Given the description of an element on the screen output the (x, y) to click on. 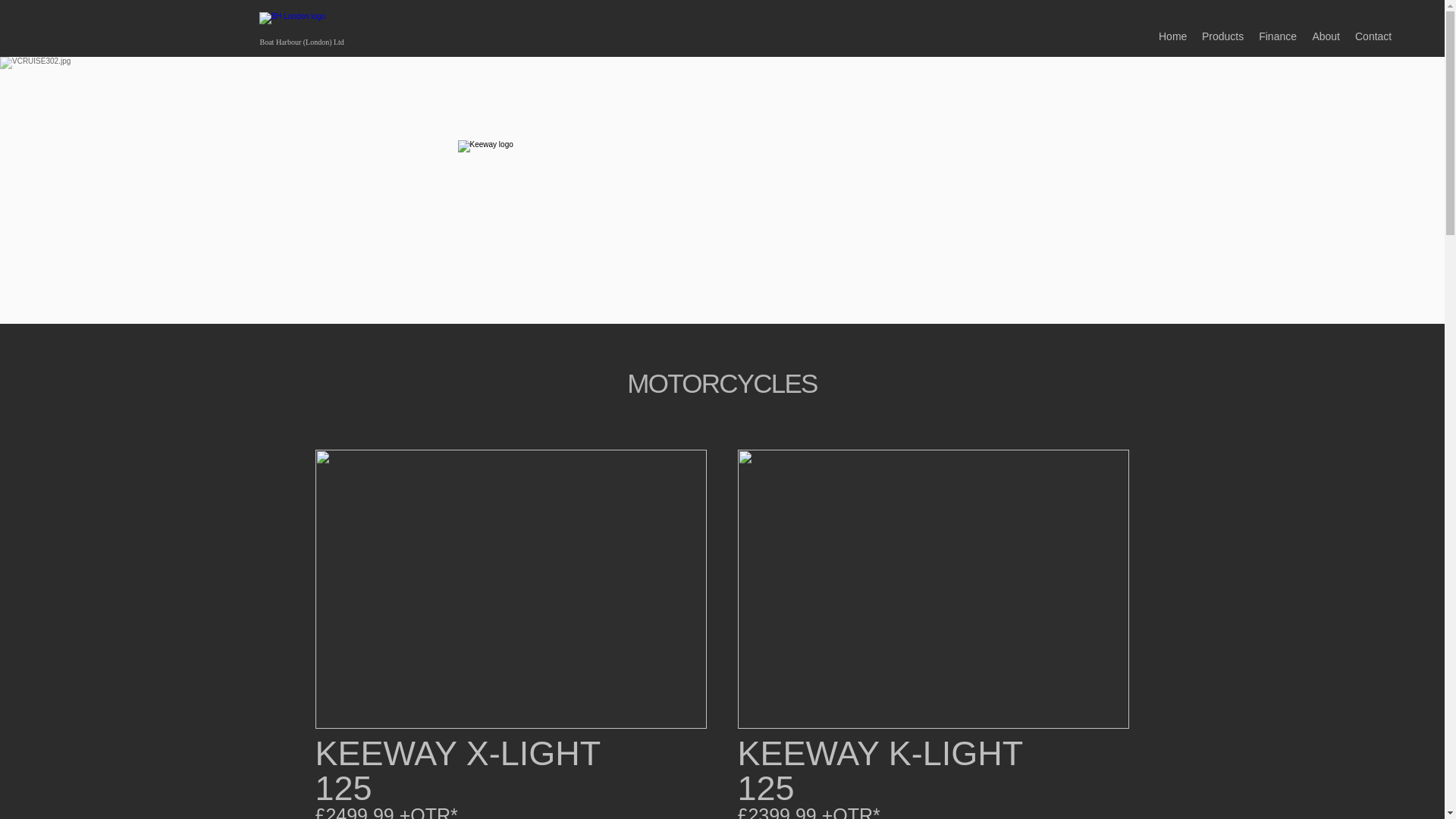
Contact (1373, 36)
Home (1172, 36)
Finance (1277, 36)
Products (1221, 36)
About (1326, 36)
